Given the description of an element on the screen output the (x, y) to click on. 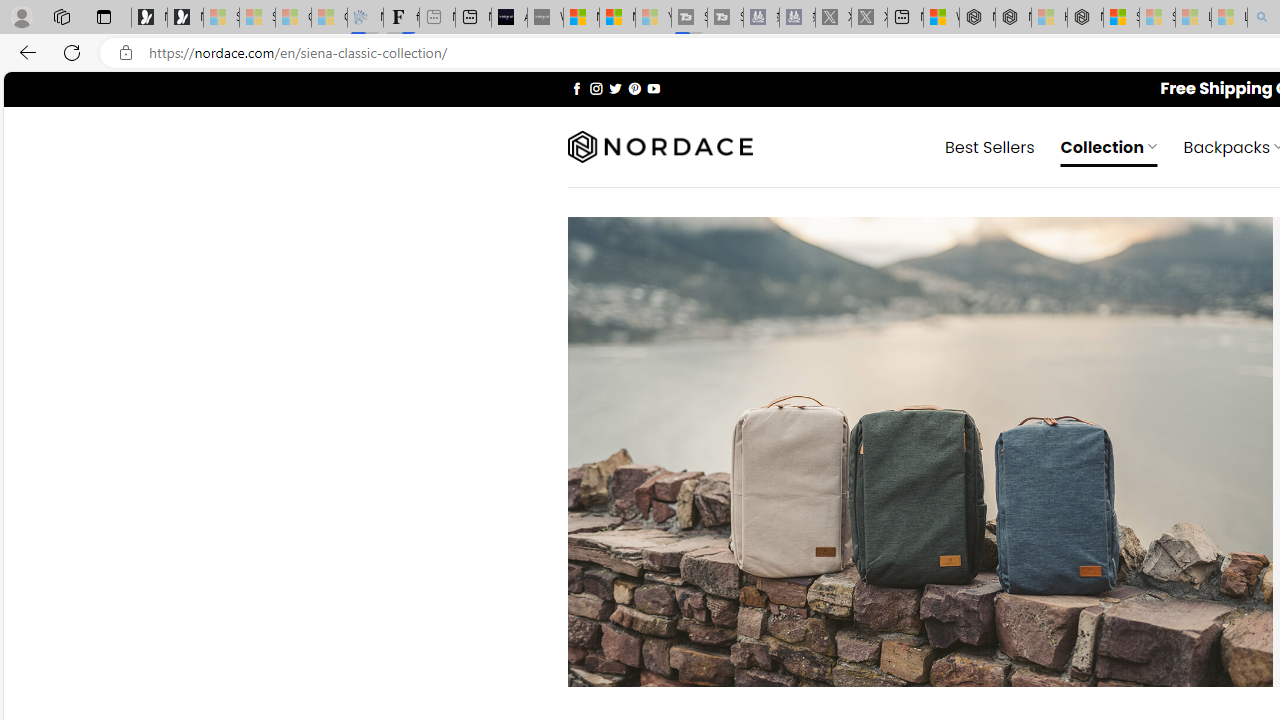
Nordace - Nordace Siena Is Not An Ordinary Backpack (1085, 17)
Follow on Facebook (576, 88)
Follow on Pinterest (634, 88)
